Given the description of an element on the screen output the (x, y) to click on. 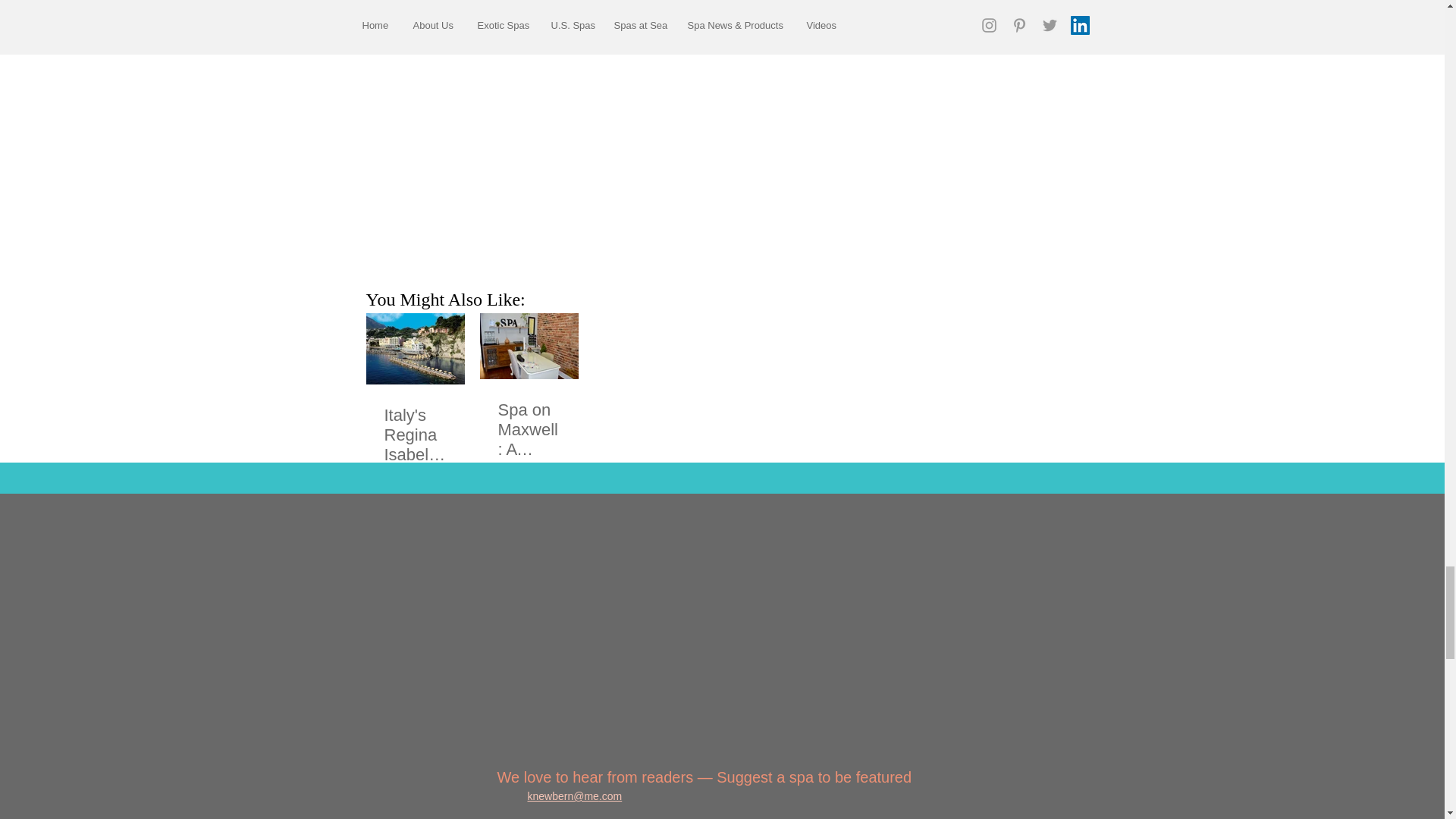
Italy's Regina Isabella Spa launches "long" COVID treatment (414, 435)
Spa on Maxwell: A Haven in Greenwood, SC (528, 429)
.com (609, 796)
